Given the description of an element on the screen output the (x, y) to click on. 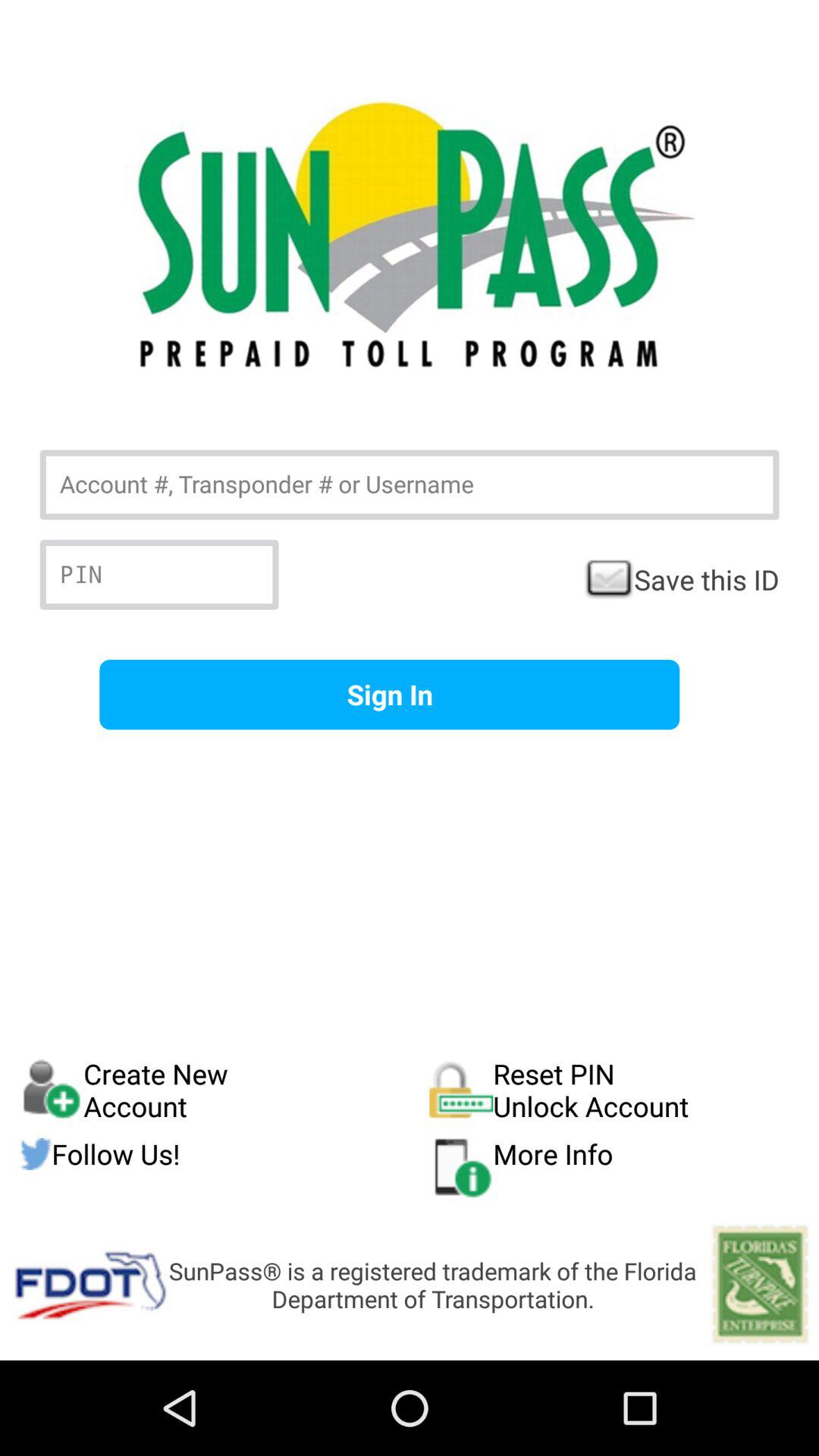
tap the save this id (681, 579)
